Given the description of an element on the screen output the (x, y) to click on. 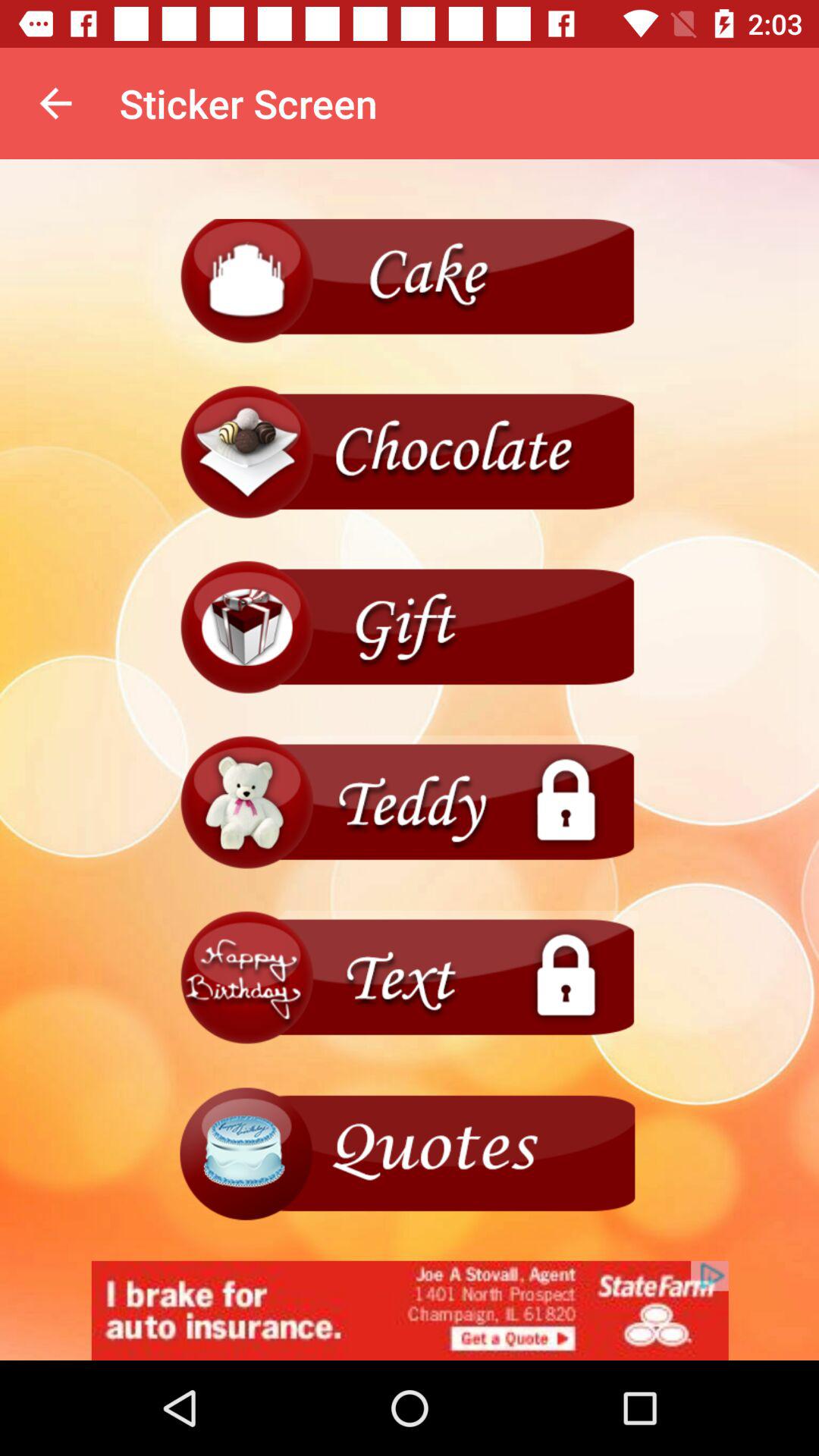
select option (409, 627)
